Given the description of an element on the screen output the (x, y) to click on. 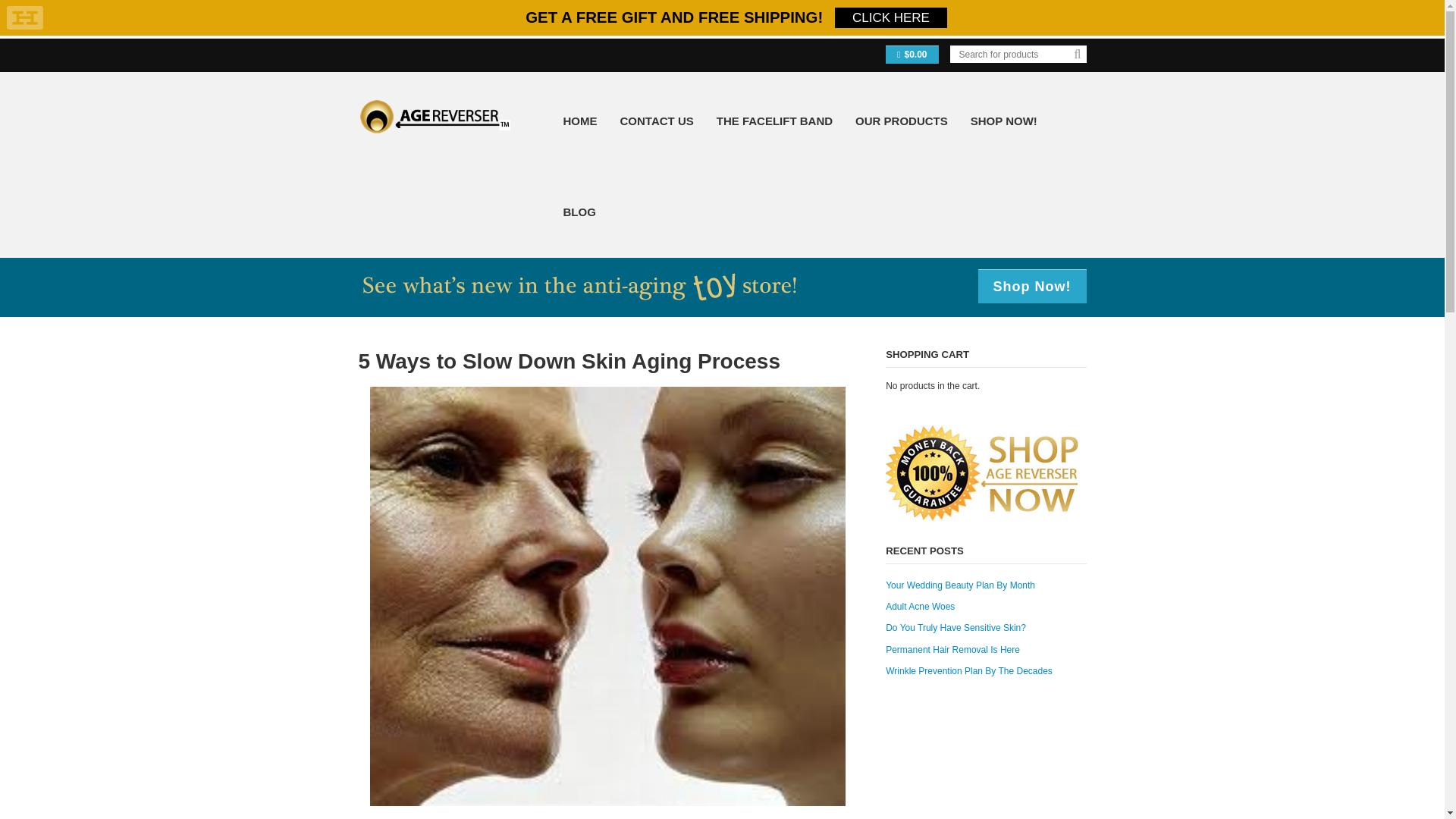
Search (1076, 55)
Search (1076, 55)
HOME (579, 121)
Return Policy (933, 472)
Your Wedding Beauty Plan By Month (960, 584)
Do You Truly Have Sensitive Skin? (955, 627)
Wrinkle Prevention Plan By The Decades (968, 670)
CONTACT US (657, 121)
SHOP NOW! (1003, 121)
Search (1076, 55)
Shop Now (1032, 472)
OUR PRODUCTS (901, 121)
Permanent Hair Removal Is Here (952, 649)
